Given the description of an element on the screen output the (x, y) to click on. 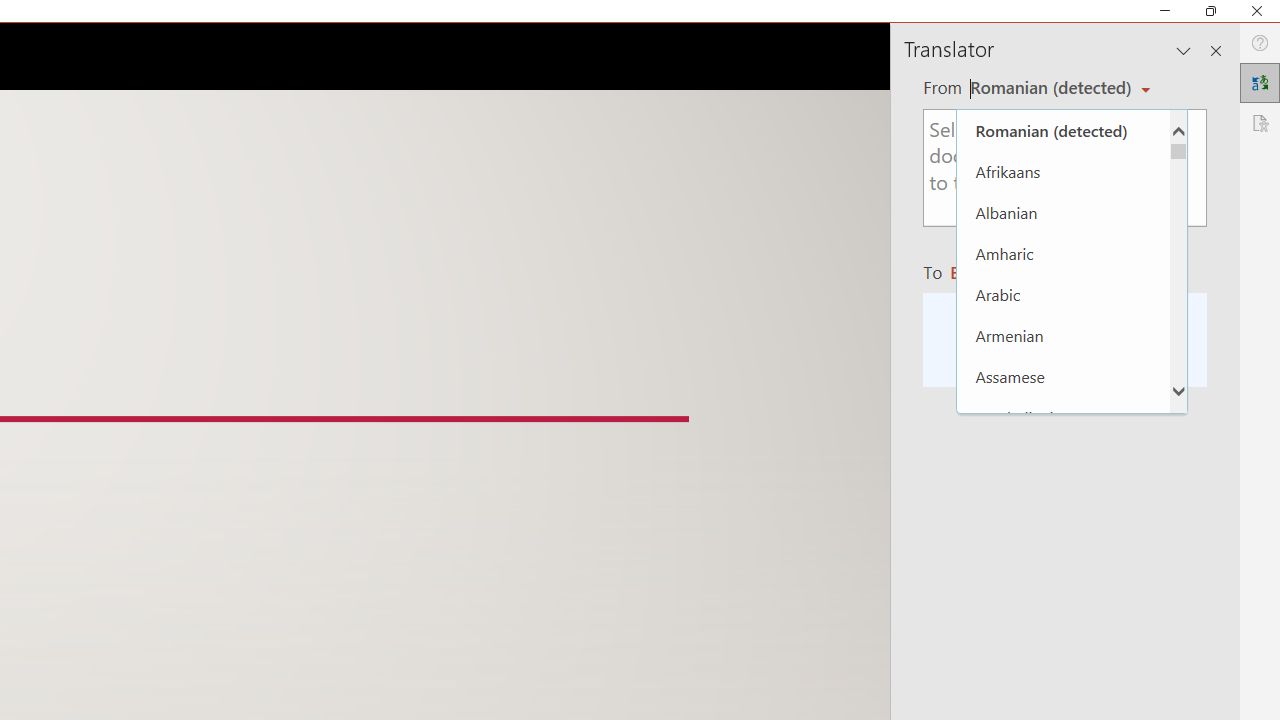
Bosnian (1063, 663)
Assamese (1063, 375)
Bangla (1063, 457)
Bashkir (1063, 498)
Armenian (1063, 335)
Afrikaans (1063, 171)
Basque (1063, 539)
Romanian (994, 272)
Bhojpuri (1063, 580)
Romanian (detected) (1047, 87)
Romanian (detected) (1063, 130)
